Given the description of an element on the screen output the (x, y) to click on. 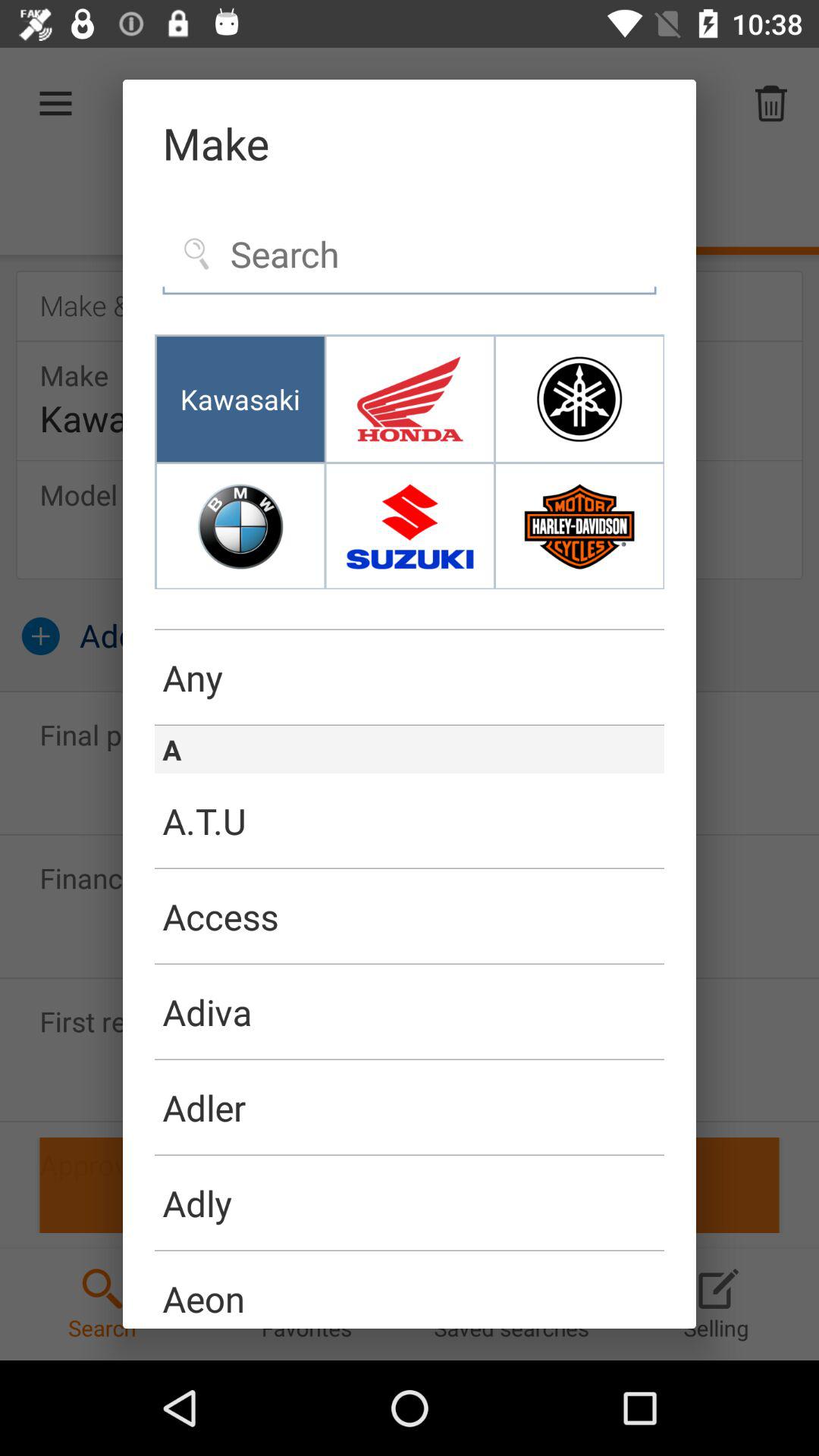
choose the icon below the a.t.u icon (409, 868)
